Given the description of an element on the screen output the (x, y) to click on. 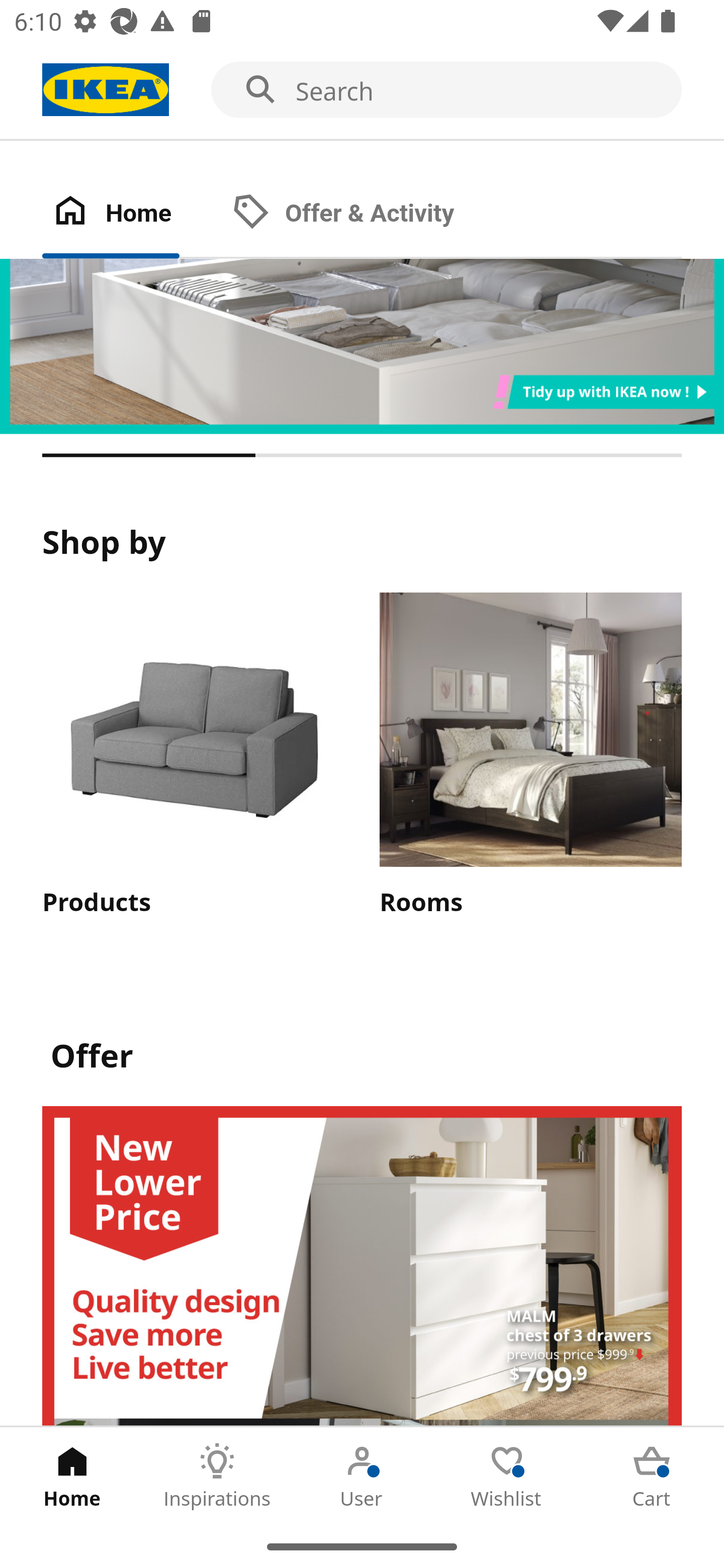
Search (361, 90)
Home
Tab 1 of 2 (131, 213)
Offer & Activity
Tab 2 of 2 (363, 213)
Products (192, 756)
Rooms (530, 756)
Home
Tab 1 of 5 (72, 1476)
Inspirations
Tab 2 of 5 (216, 1476)
User
Tab 3 of 5 (361, 1476)
Wishlist
Tab 4 of 5 (506, 1476)
Cart
Tab 5 of 5 (651, 1476)
